Given the description of an element on the screen output the (x, y) to click on. 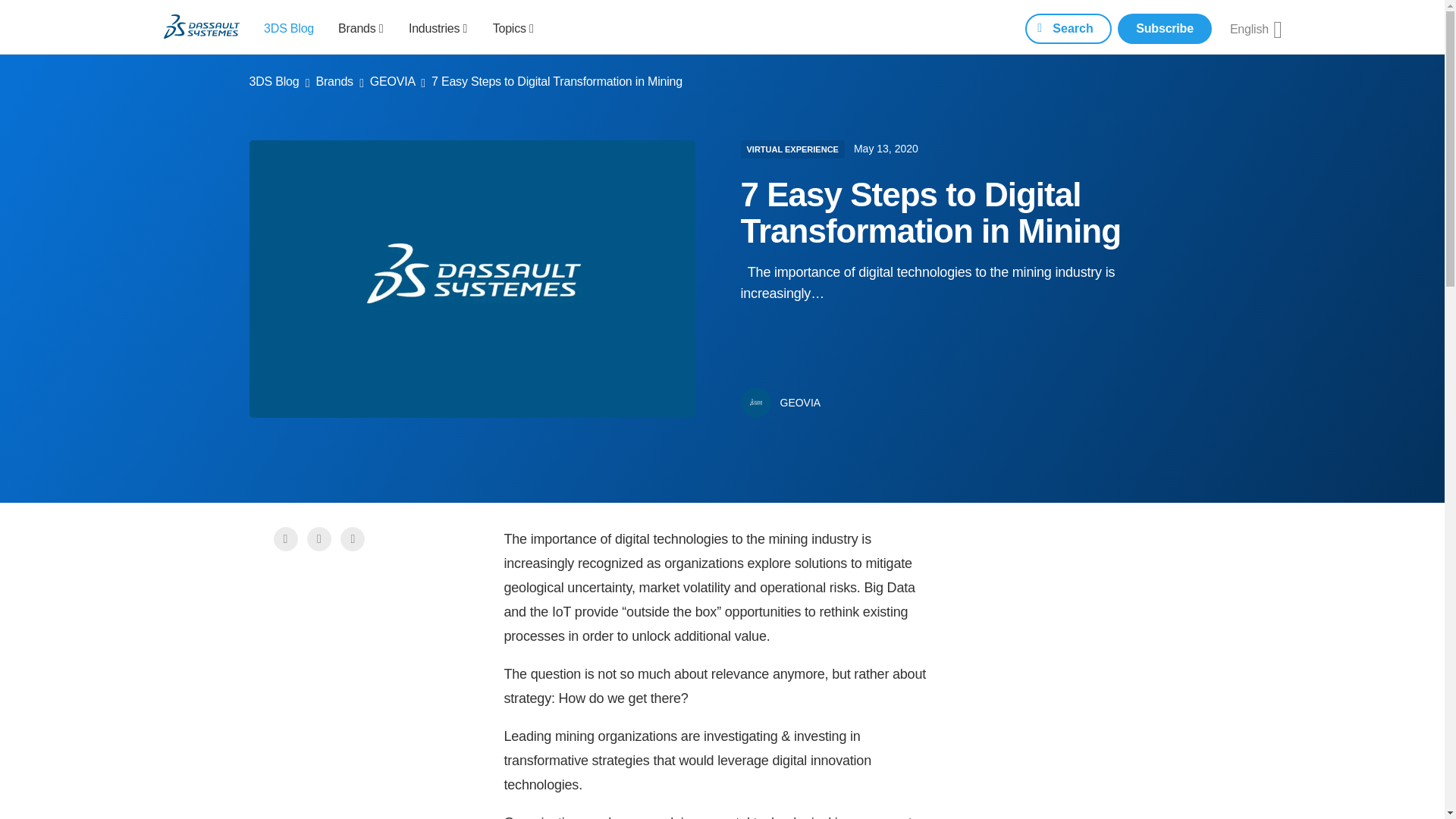
Topics (513, 27)
Share on Facebook (285, 537)
Brands (360, 27)
Subscribe (1164, 28)
Share on Twitter (320, 539)
Share on Linkedin (354, 539)
3DS Blog (288, 27)
Industries (438, 27)
